Given the description of an element on the screen output the (x, y) to click on. 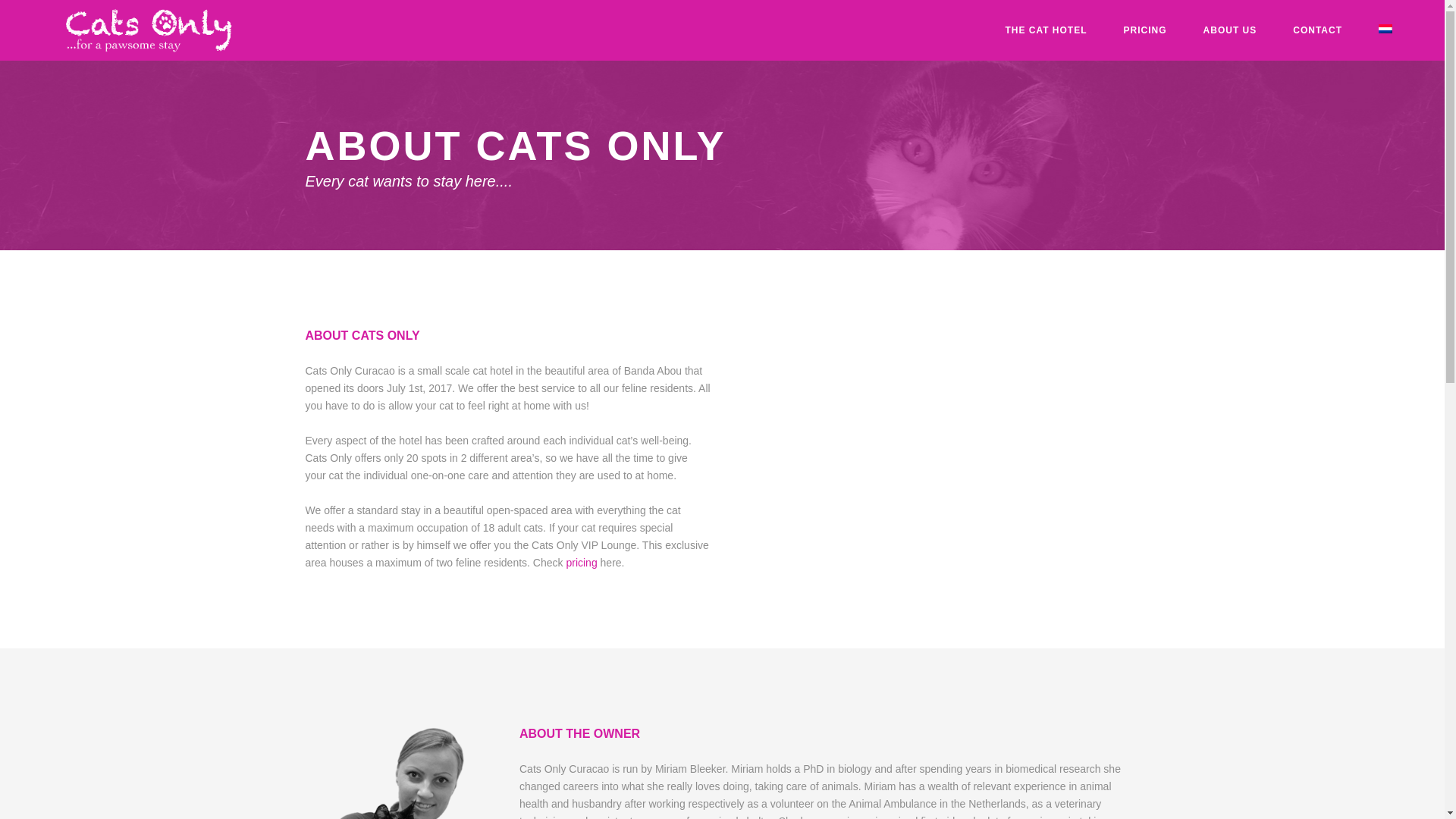
CONTACT (1317, 30)
THE CAT HOTEL (1046, 30)
ABOUT US (1230, 30)
PRICING (1145, 30)
pricing (581, 562)
